Given the description of an element on the screen output the (x, y) to click on. 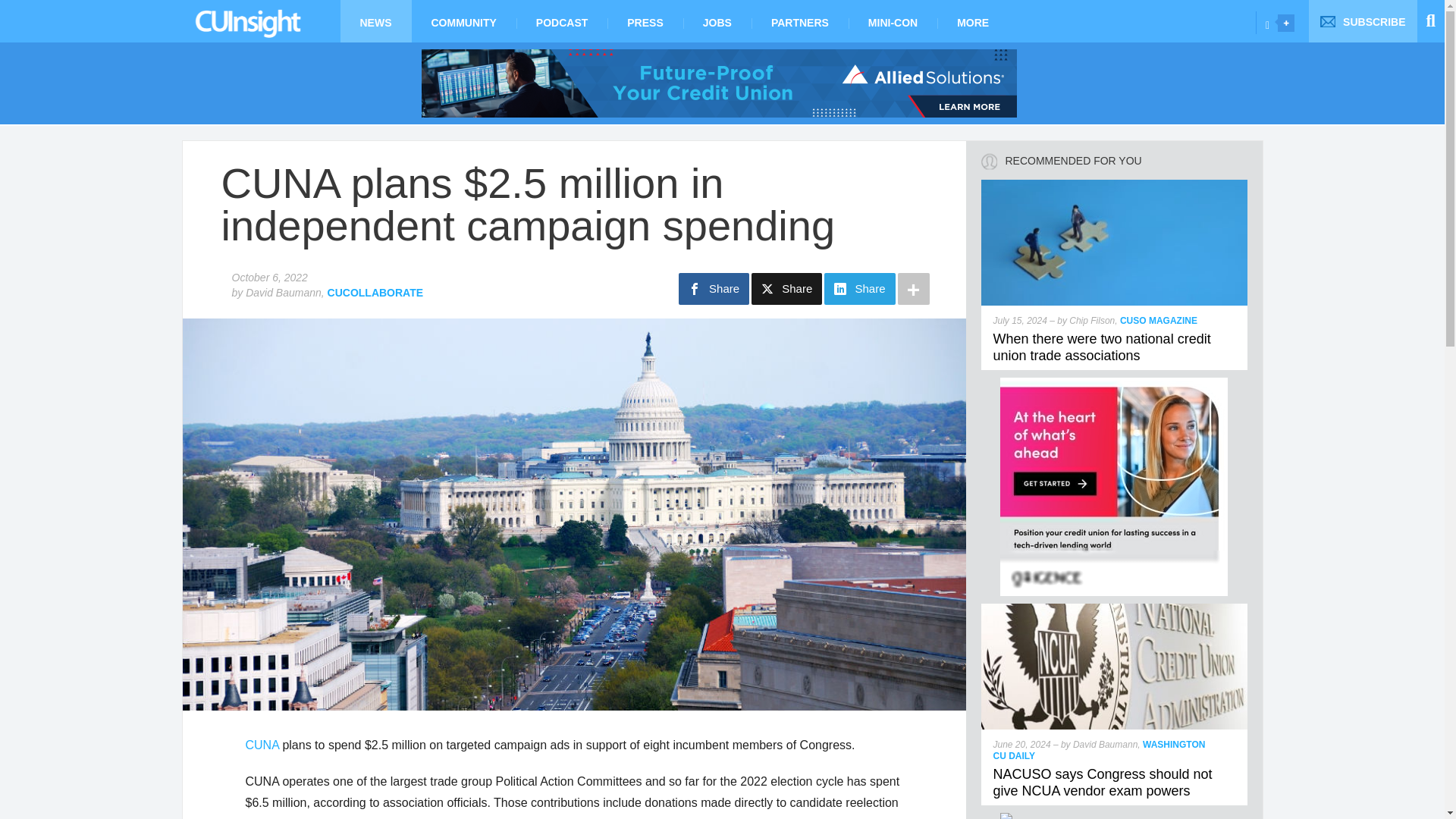
NACUSO says Congress should not give NCUA vendor exam powers (1114, 609)
Opener (1286, 22)
Share (786, 288)
NACUSO says Congress should not give NCUA vendor exam powers (1102, 782)
COMMUNITY (462, 21)
PARTNERS (799, 21)
Share (713, 288)
MINI-CON (892, 21)
NEWS (374, 21)
Share (859, 288)
